Given the description of an element on the screen output the (x, y) to click on. 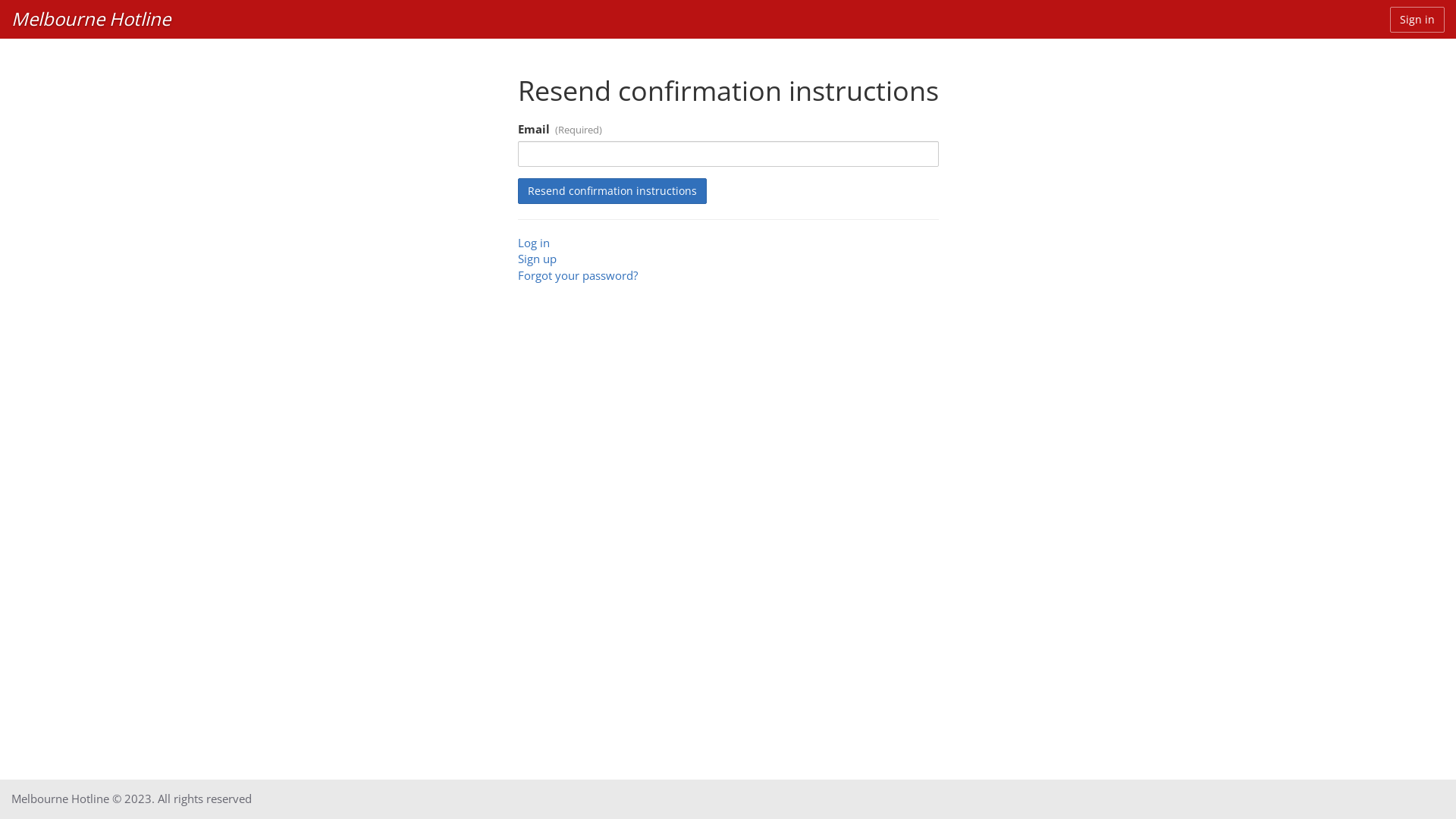
Sign in Element type: text (1417, 19)
Log in Element type: text (533, 242)
Melbourne Hotline Element type: text (90, 18)
Resend confirmation instructions Element type: text (611, 190)
Sign up Element type: text (536, 258)
Forgot your password? Element type: text (577, 274)
